Given the description of an element on the screen output the (x, y) to click on. 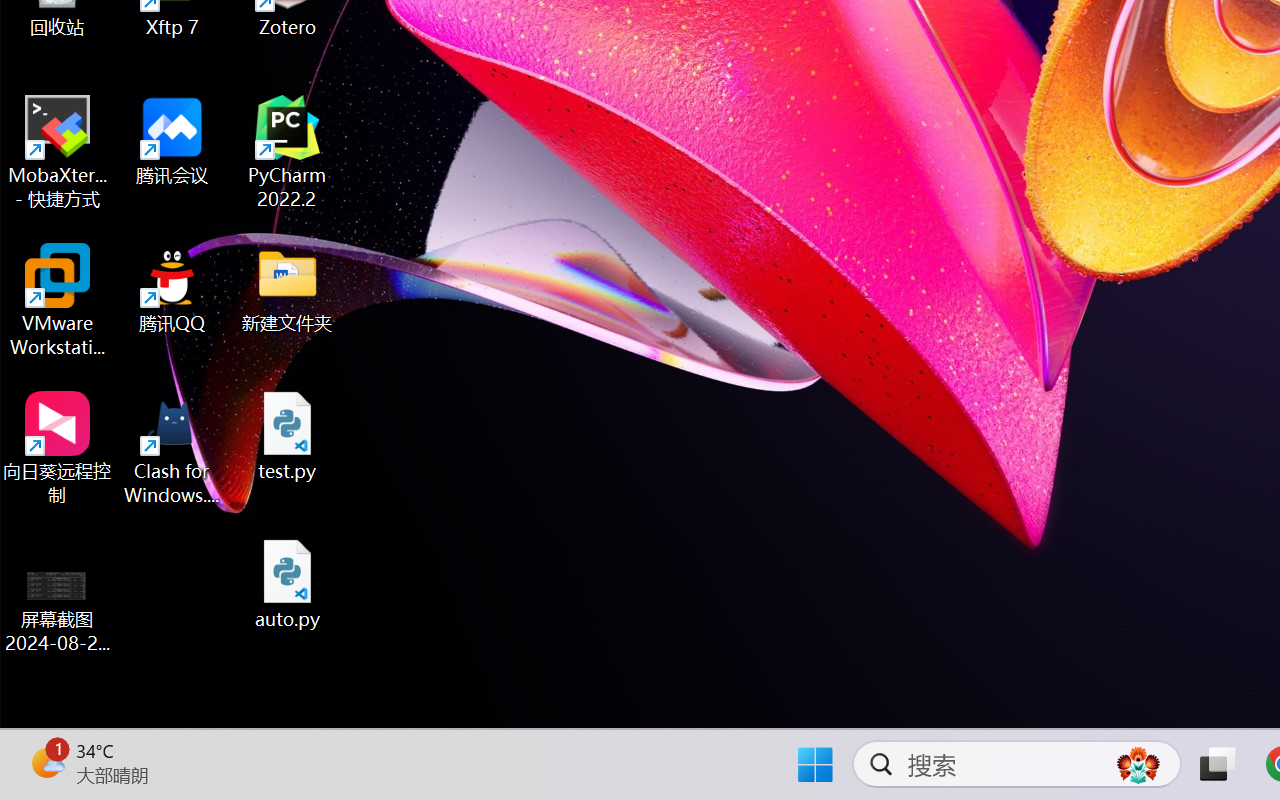
auto.py (287, 584)
PyCharm 2022.2 (287, 152)
VMware Workstation Pro (57, 300)
